Given the description of an element on the screen output the (x, y) to click on. 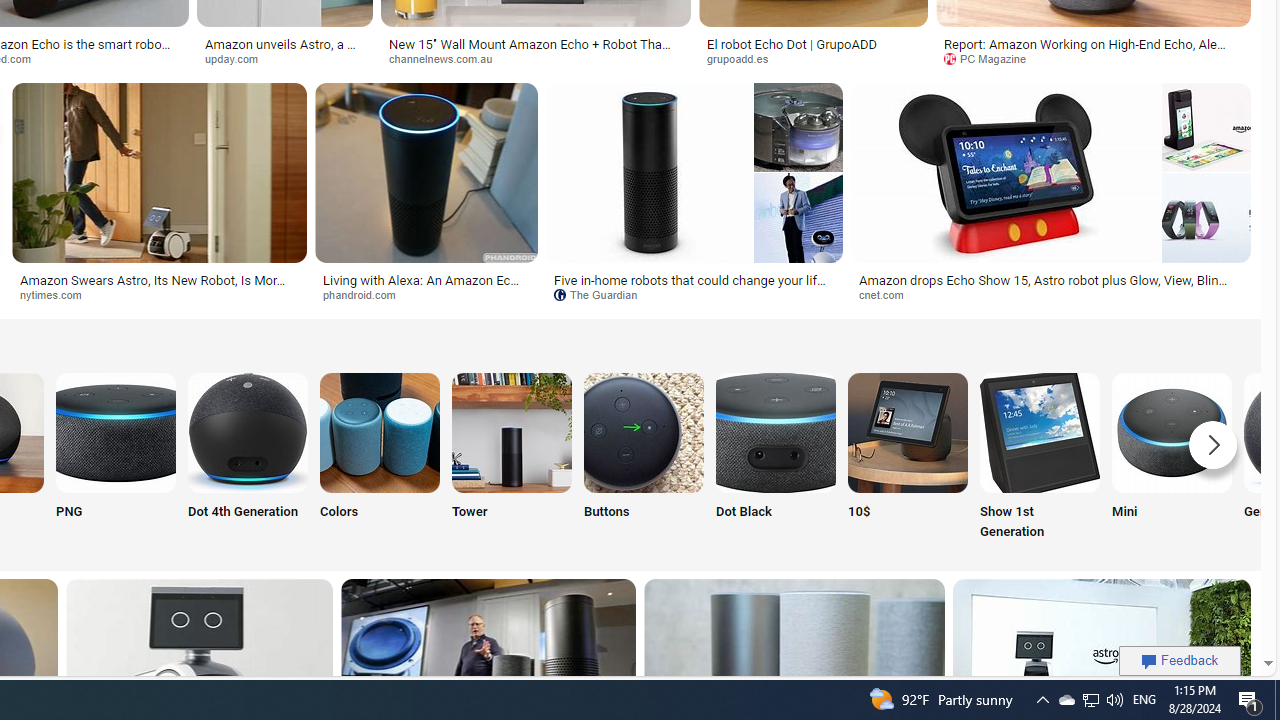
channelnews.com.au (447, 57)
Show 1st Generation (1039, 457)
Amazon Echo Colors (380, 432)
Amazon Echo 10 10$ (907, 458)
Image result for Amazon Echo Robot (1206, 217)
nytimes.com (159, 295)
Amazon Echo 10 (907, 432)
The Guardian (602, 294)
Amazon Echo Dot Black Dot Black (775, 458)
Amazon Echo Show 1st Generation (1039, 432)
